Given the description of an element on the screen output the (x, y) to click on. 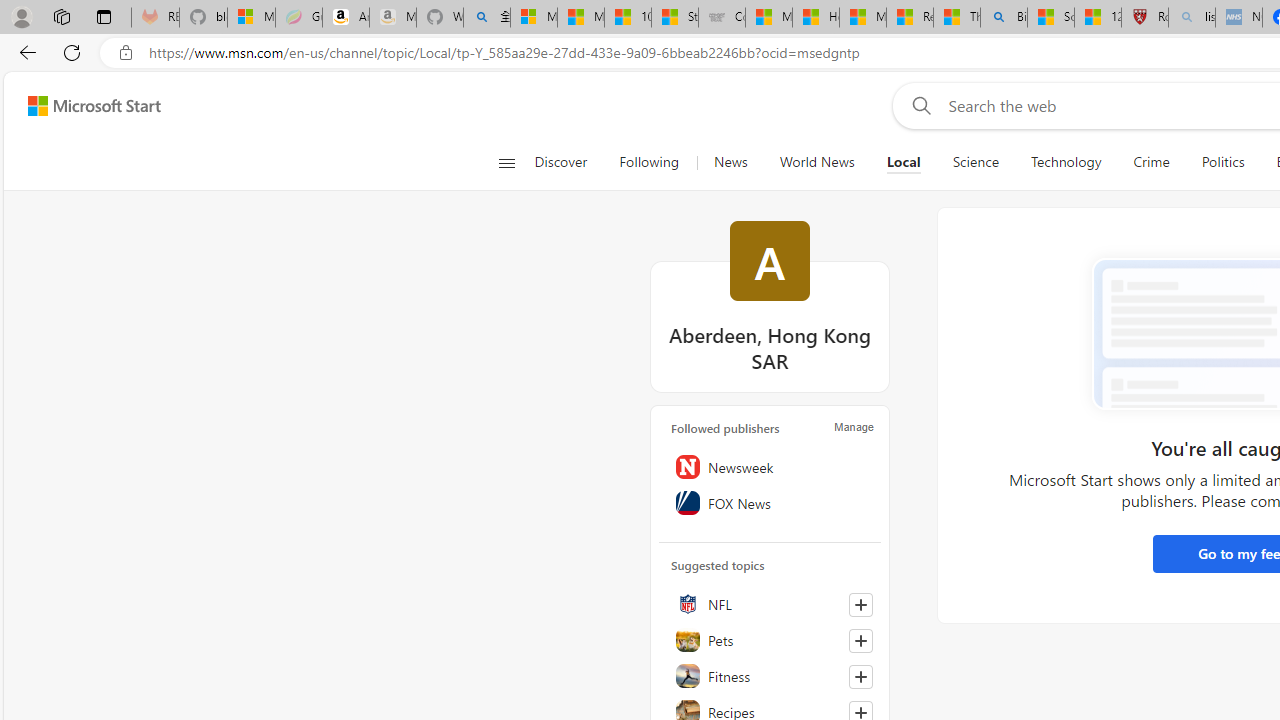
NFL (770, 603)
